Given the description of an element on the screen output the (x, y) to click on. 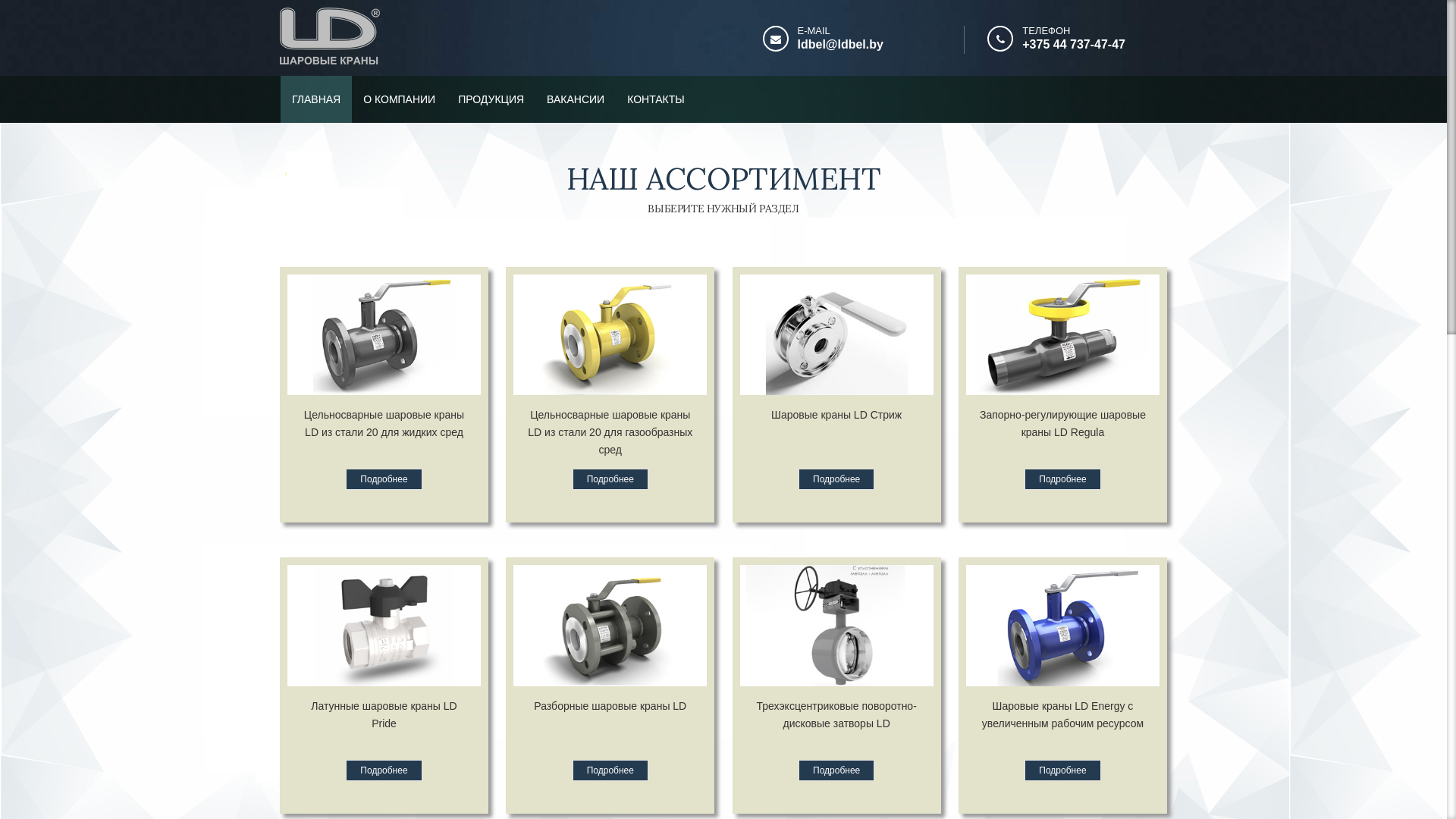
+375 44 737-47-47 Element type: text (1073, 43)
ldbel@ldbel.by Element type: text (840, 43)
